Given the description of an element on the screen output the (x, y) to click on. 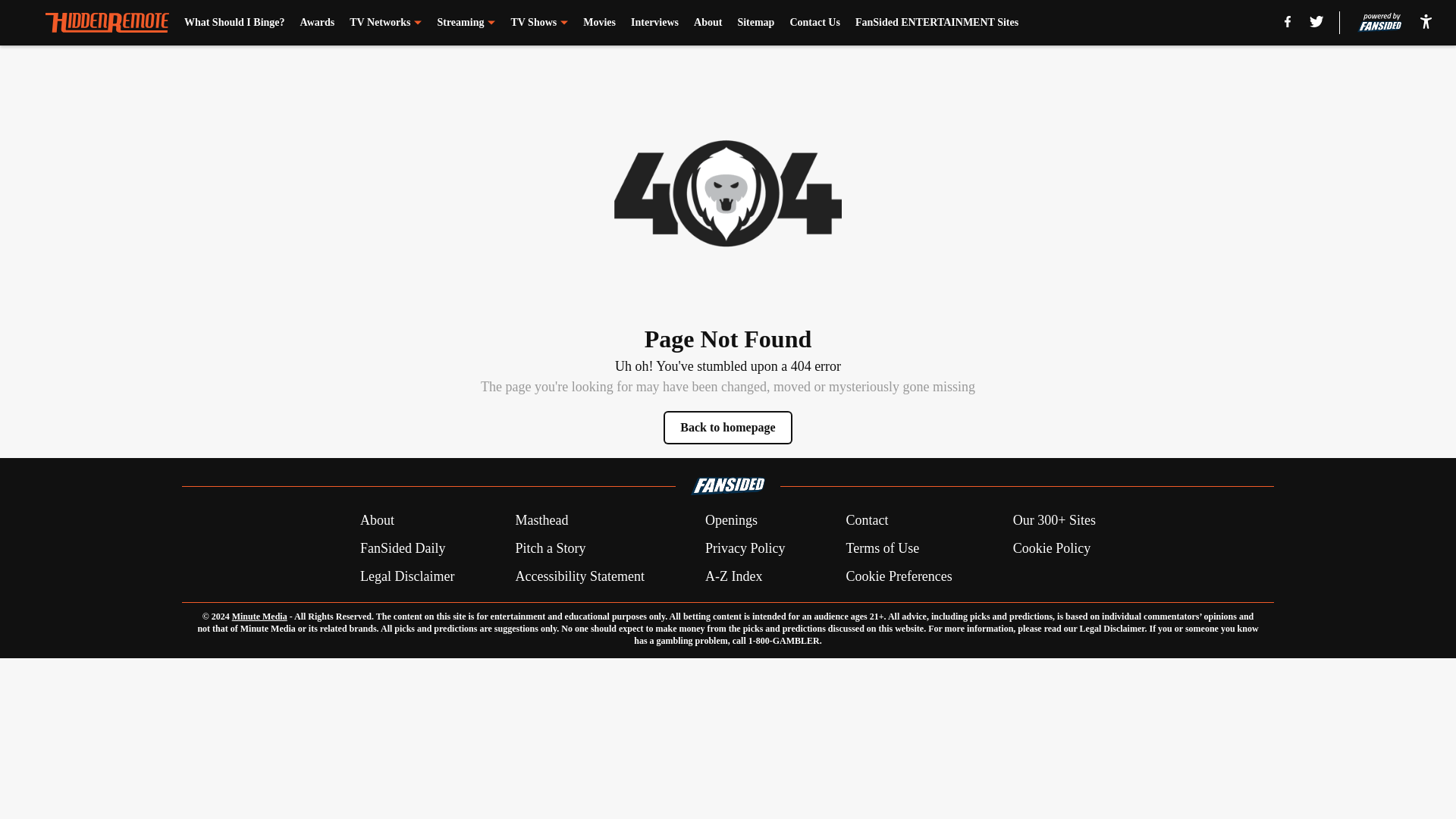
Error image (727, 193)
Sitemap (755, 22)
Movies (599, 22)
About (708, 22)
What Should I Binge? (234, 22)
Masthead (541, 520)
Awards (316, 22)
Back to homepage (727, 427)
About (376, 520)
Contact Us (814, 22)
Interviews (654, 22)
FanSided ENTERTAINMENT Sites (936, 22)
